Given the description of an element on the screen output the (x, y) to click on. 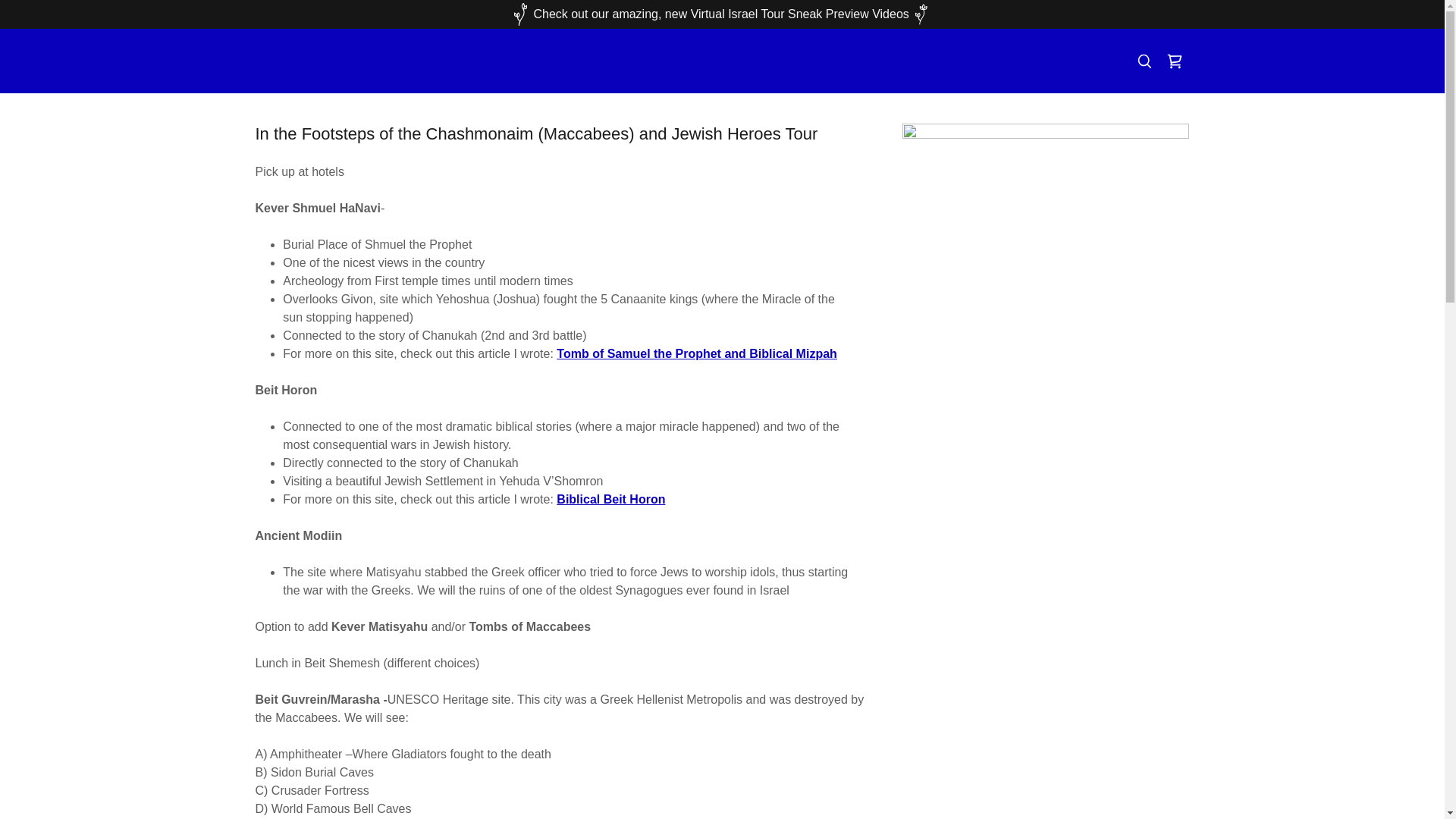
Tomb of Samuel the Prophet and Biblical Mizpah (696, 353)
Biblical Beit Horon (610, 499)
